Given the description of an element on the screen output the (x, y) to click on. 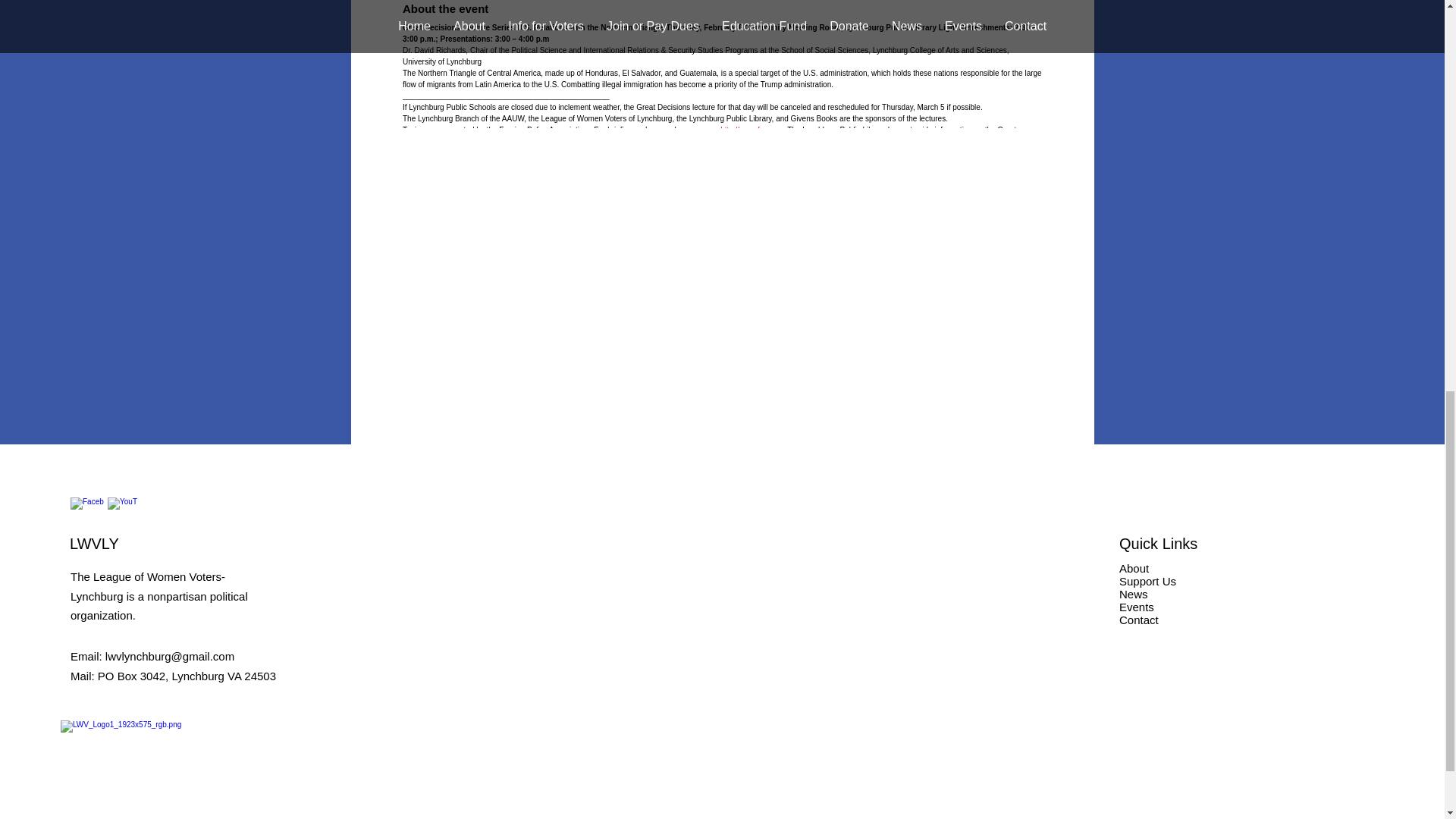
News (1133, 594)
Events (1136, 606)
Contact (1138, 619)
About (1133, 567)
Support Us (1147, 581)
